Given the description of an element on the screen output the (x, y) to click on. 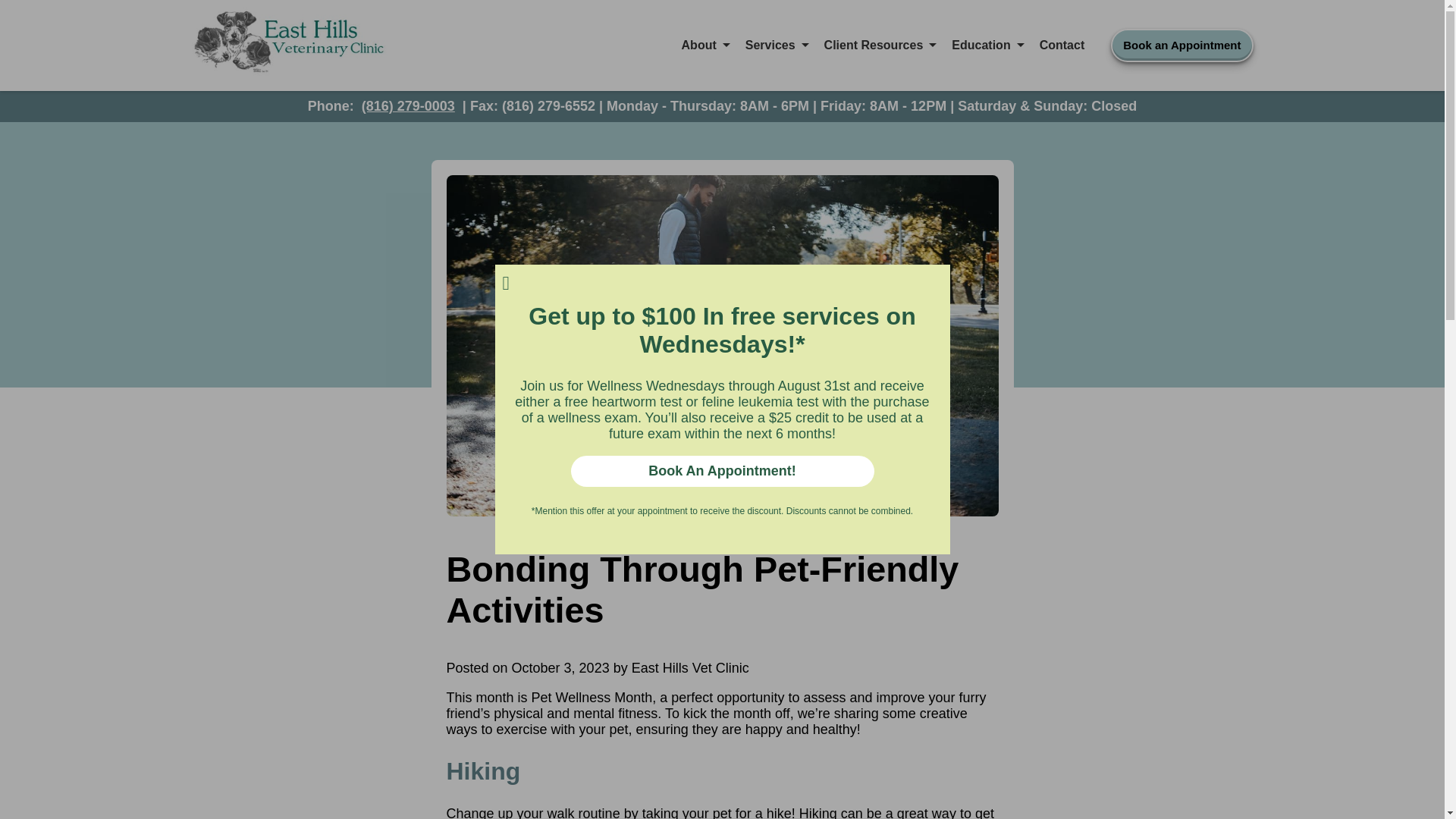
Client Resources (880, 45)
About (705, 45)
Contact (1061, 45)
Services (777, 45)
Education (987, 45)
Book an Appointment (1181, 45)
Home Link (288, 45)
